Given the description of an element on the screen output the (x, y) to click on. 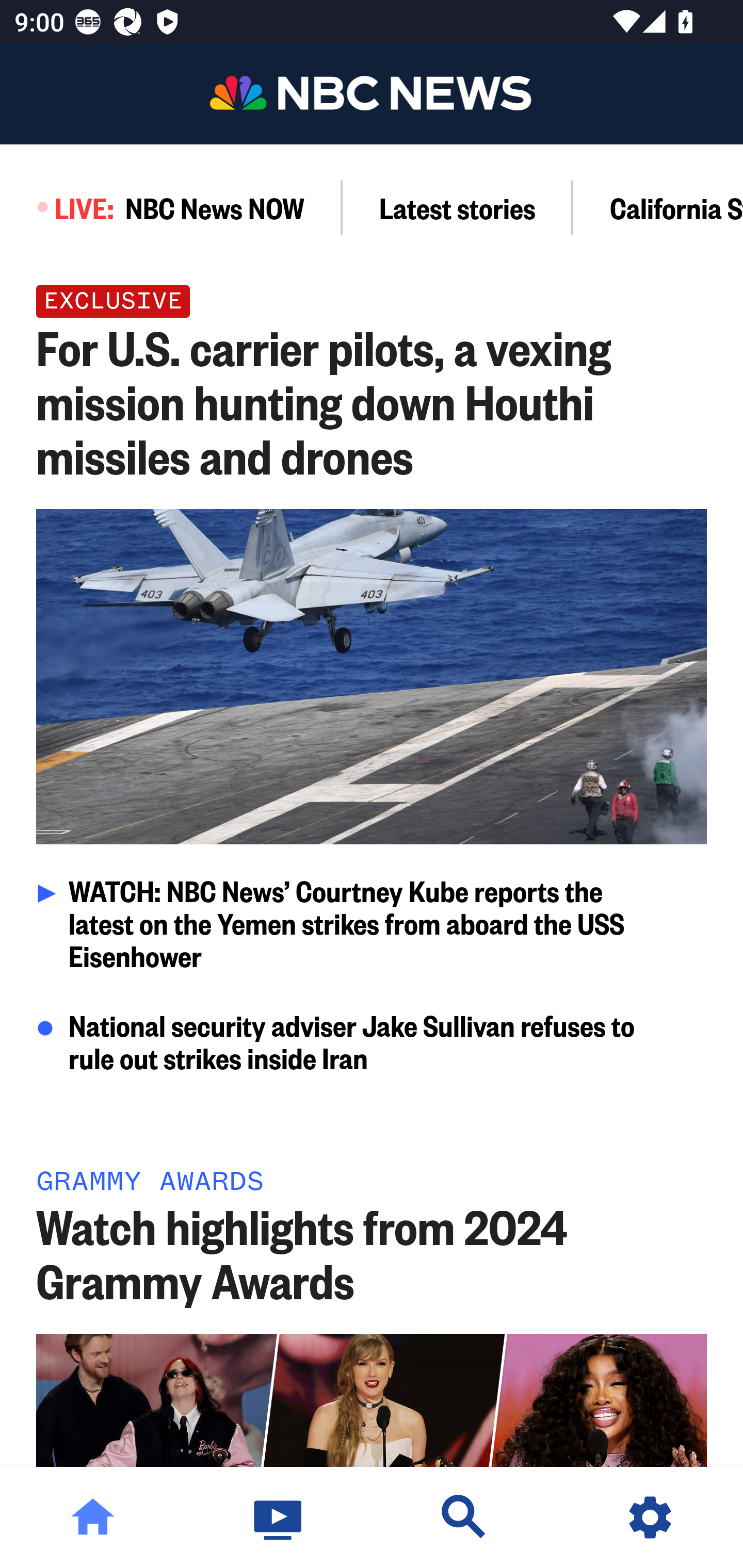
LIVE:  NBC News NOW (171, 207)
Latest stories Section,Latest stories (457, 207)
California Storms (658, 207)
Watch (278, 1517)
Discover (464, 1517)
Settings (650, 1517)
